Given the description of an element on the screen output the (x, y) to click on. 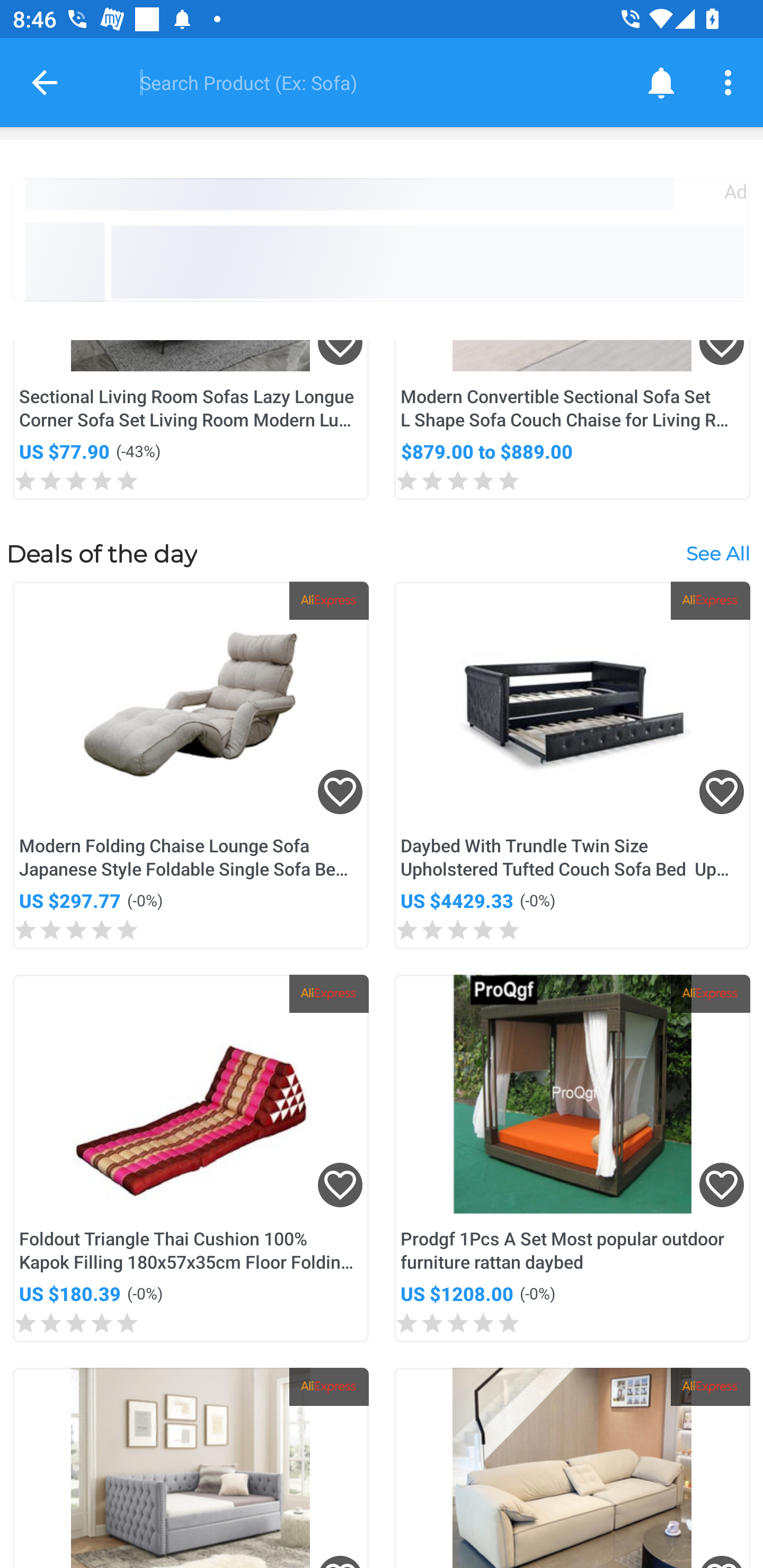
Collapse (44, 82)
More options (731, 81)
Search Product (Ex: Sofa) (368, 82)
See All (717, 553)
